Given the description of an element on the screen output the (x, y) to click on. 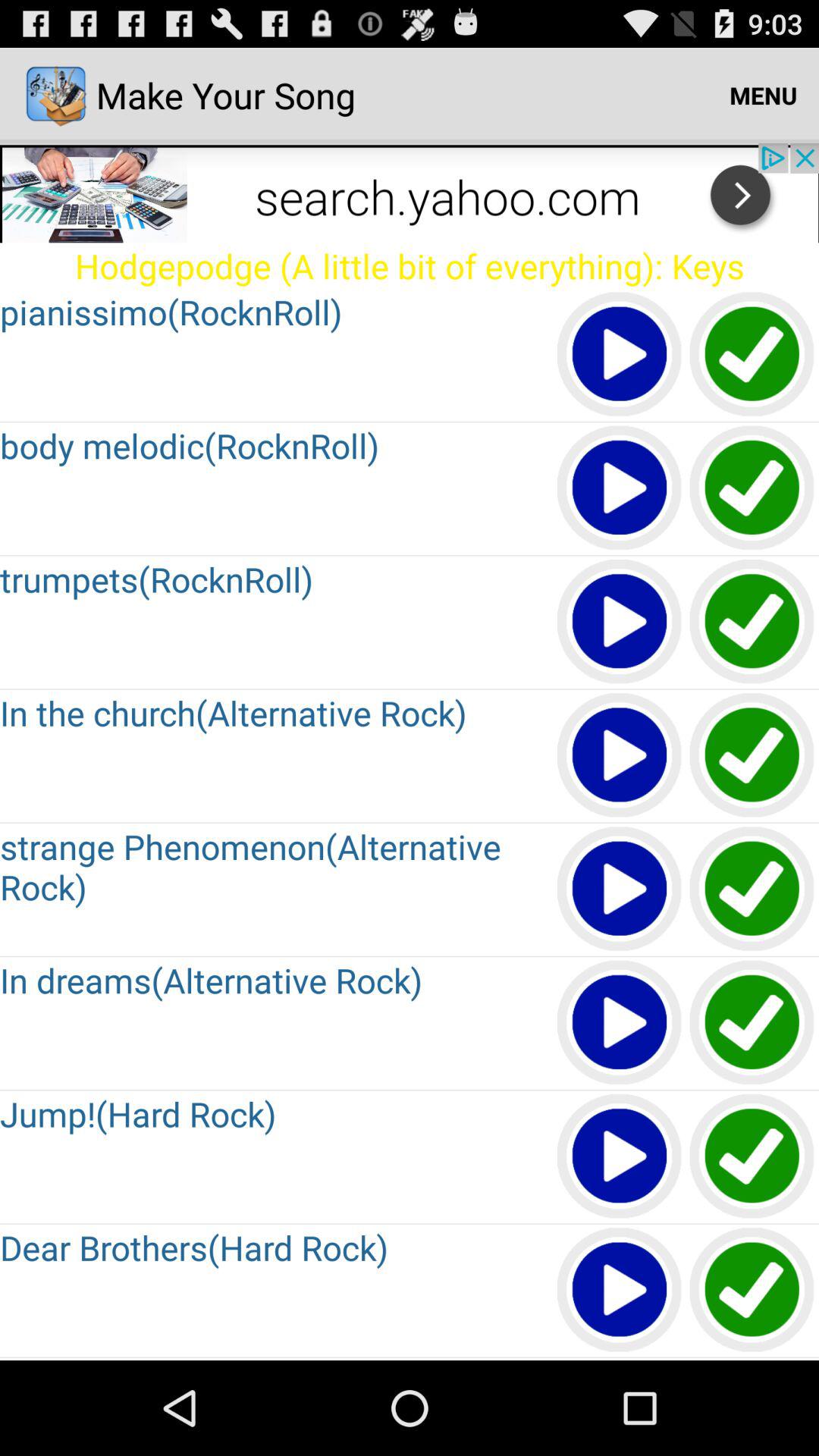
play audio or video (619, 1359)
